Given the description of an element on the screen output the (x, y) to click on. 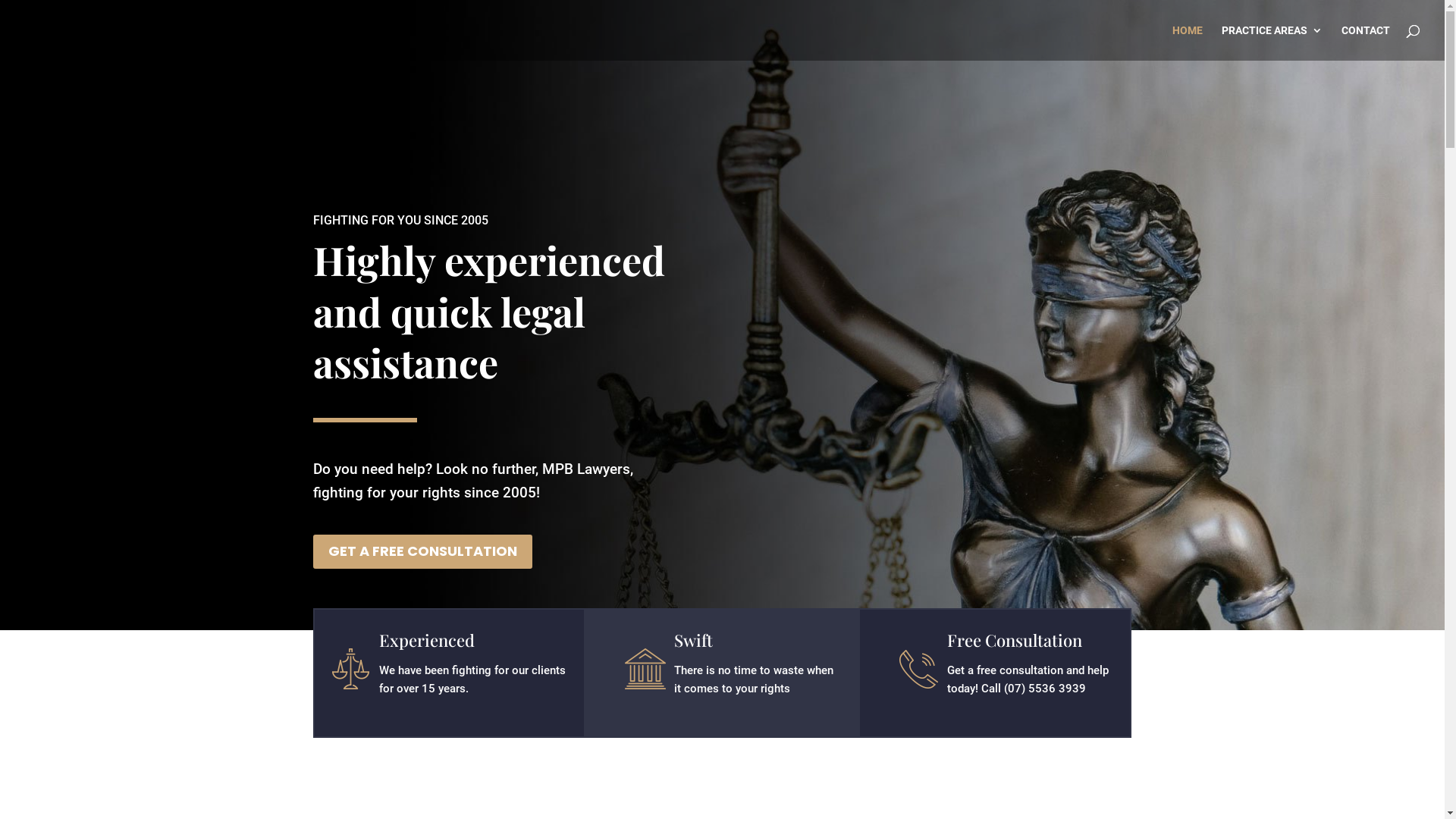
(07) 5536 3939 Element type: text (1044, 688)
HOME Element type: text (1187, 42)
CONTACT Element type: text (1365, 42)
GET A FREE CONSULTATION Element type: text (421, 551)
PRACTICE AREAS Element type: text (1271, 42)
